Given the description of an element on the screen output the (x, y) to click on. 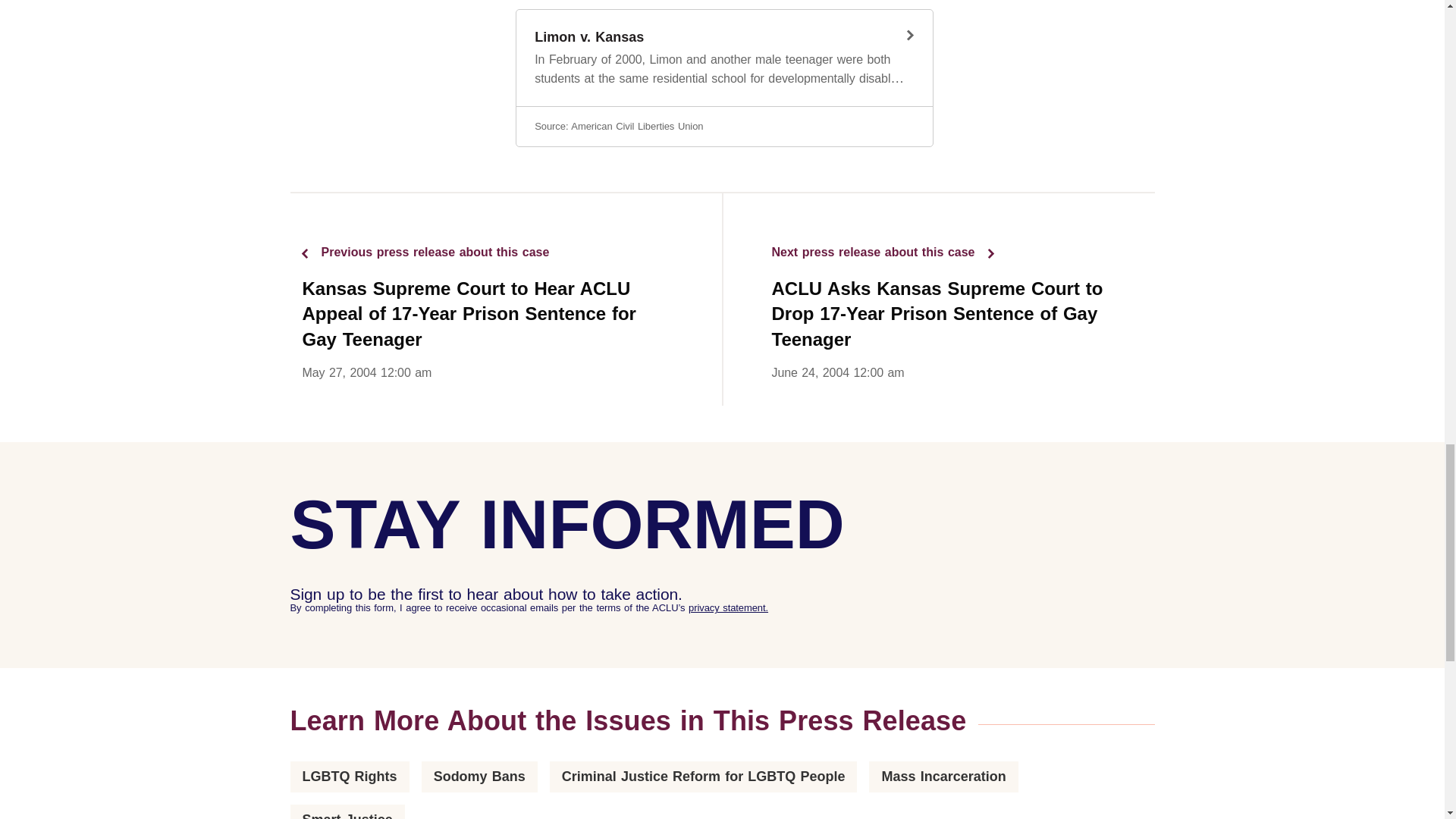
Smart Justice (346, 815)
privacy statement. (728, 607)
LGBTQ Rights (724, 78)
Criminal Justice Reform for LGBTQ People (349, 776)
Sodomy Bans (703, 776)
Mass Incarceration (479, 776)
